Given the description of an element on the screen output the (x, y) to click on. 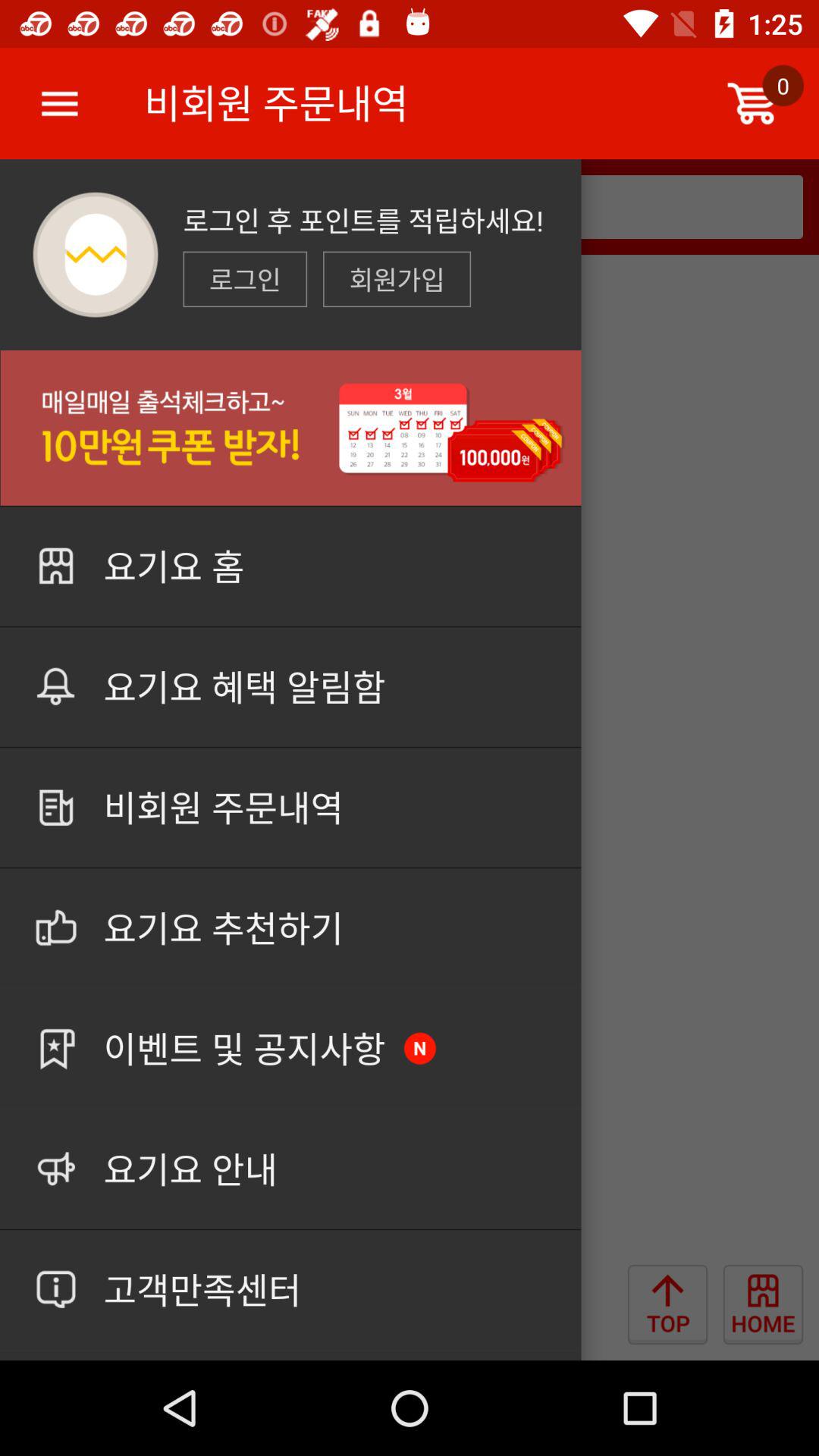
select the second text right to the circle (396, 279)
click on the first box in the third text line (245, 279)
select the logo which is in the top left corner of the page (94, 254)
